Given the description of an element on the screen output the (x, y) to click on. 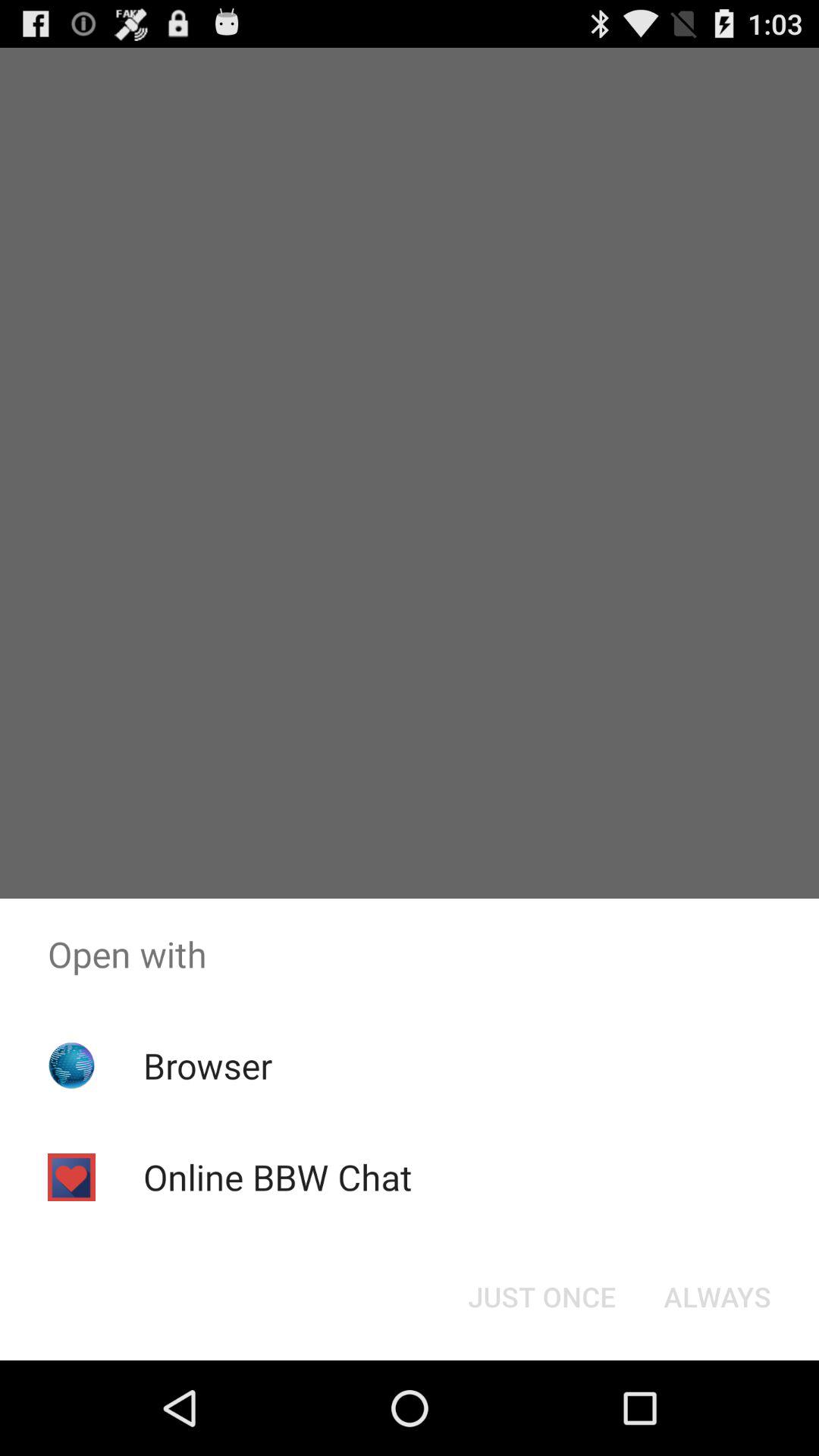
jump until the always (717, 1296)
